Given the description of an element on the screen output the (x, y) to click on. 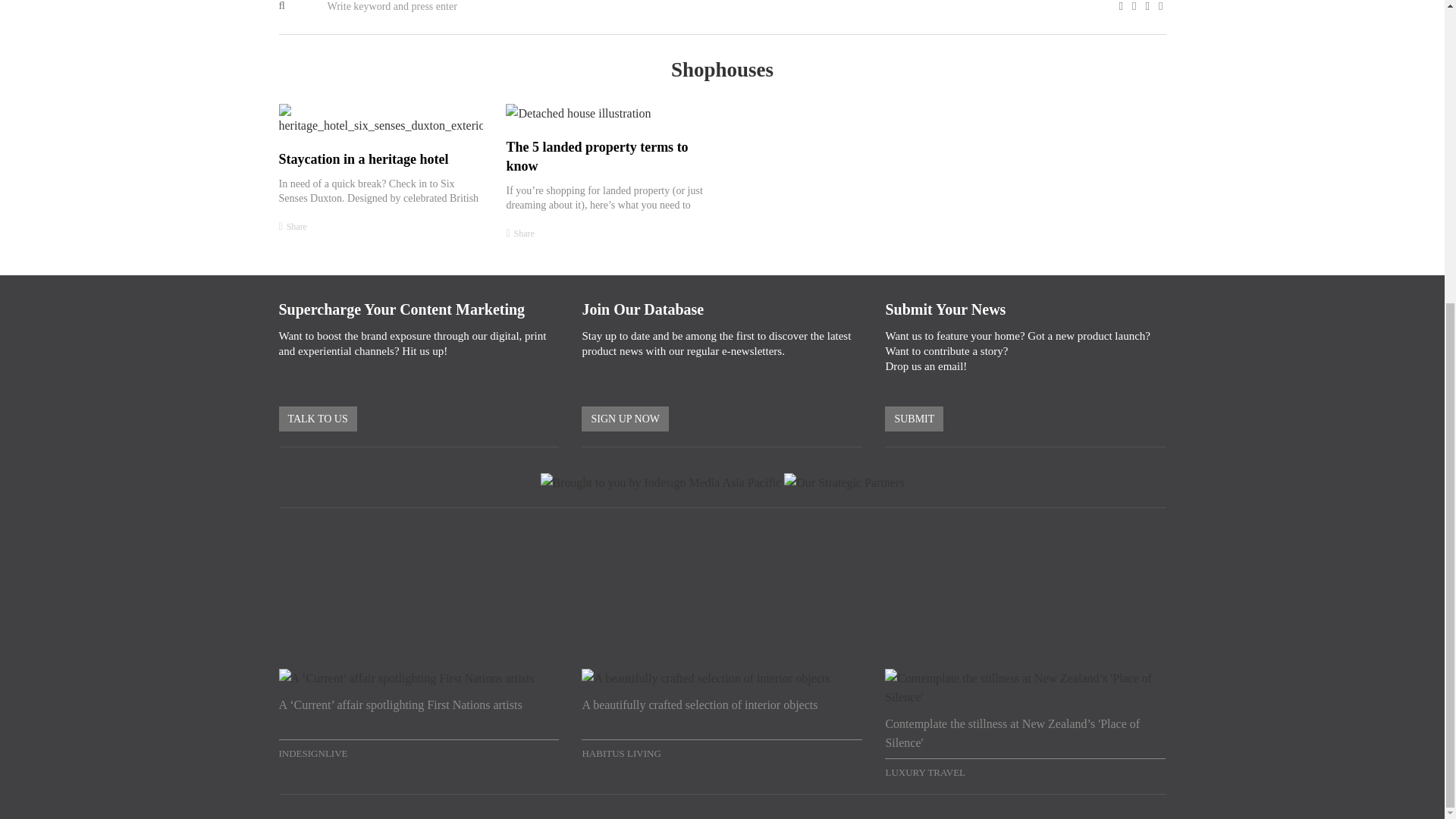
The 5 landed property terms to know (596, 156)
INDESIGNLIVE (419, 750)
A beautifully crafted selection of interior objects (720, 716)
Staycation in a heritage hotel (363, 159)
SIGN UP NOW (624, 418)
TALK TO US (317, 418)
SUBMIT (914, 418)
Our Strategic Partners (844, 482)
A beautifully crafted selection of interior objects (720, 716)
Brought to you by Indesign Media Asia Pacific (660, 482)
